Given the description of an element on the screen output the (x, y) to click on. 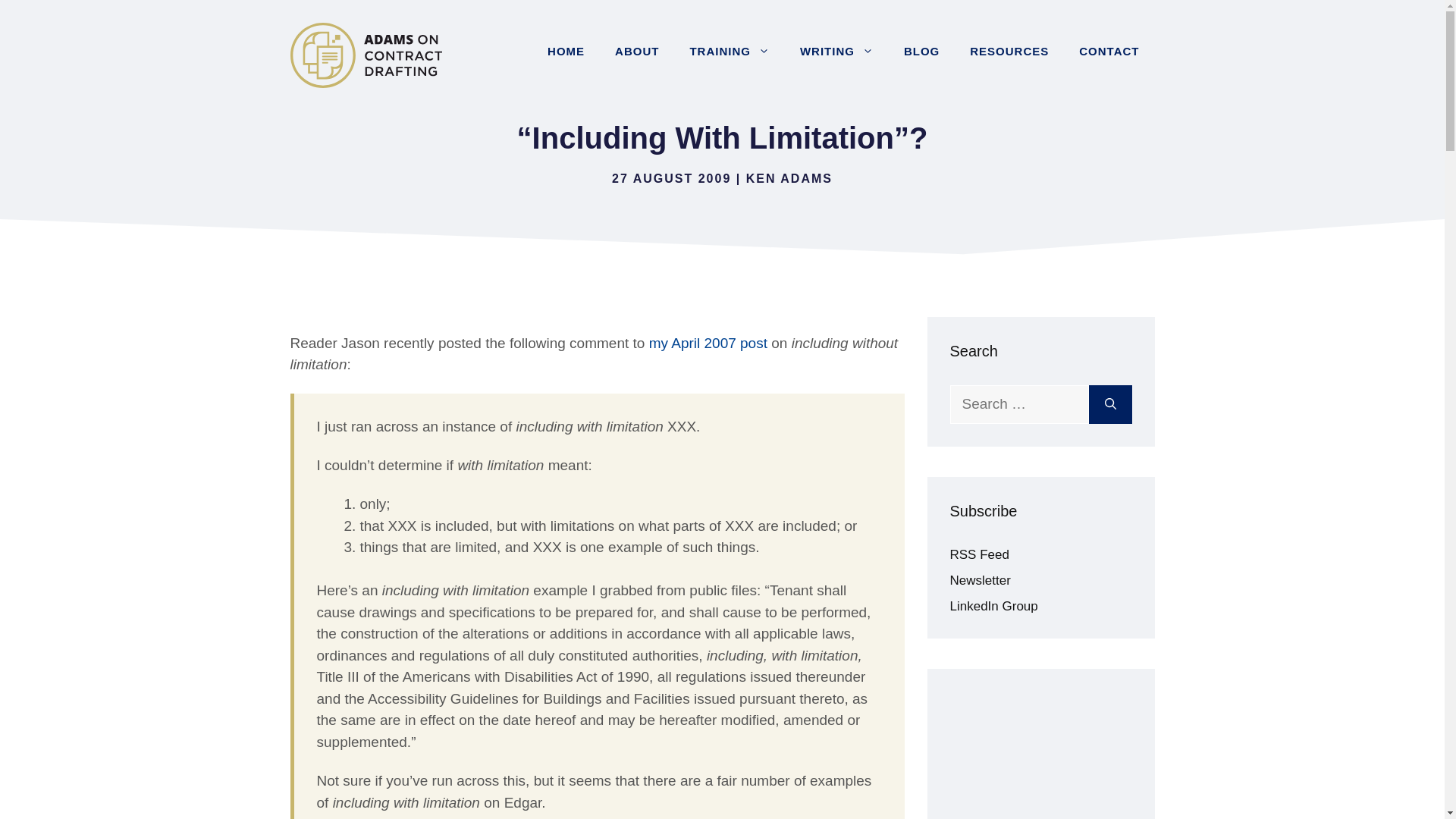
HOME (565, 51)
my April 2007 post (708, 342)
KEN ADAMS (788, 178)
WRITING (836, 51)
RESOURCES (1009, 51)
CONTACT (1109, 51)
ABOUT (636, 51)
TRAINING (729, 51)
Search for: (1018, 404)
RSS Feed (979, 554)
View all posts by Ken Adams (788, 178)
BLOG (921, 51)
